Given the description of an element on the screen output the (x, y) to click on. 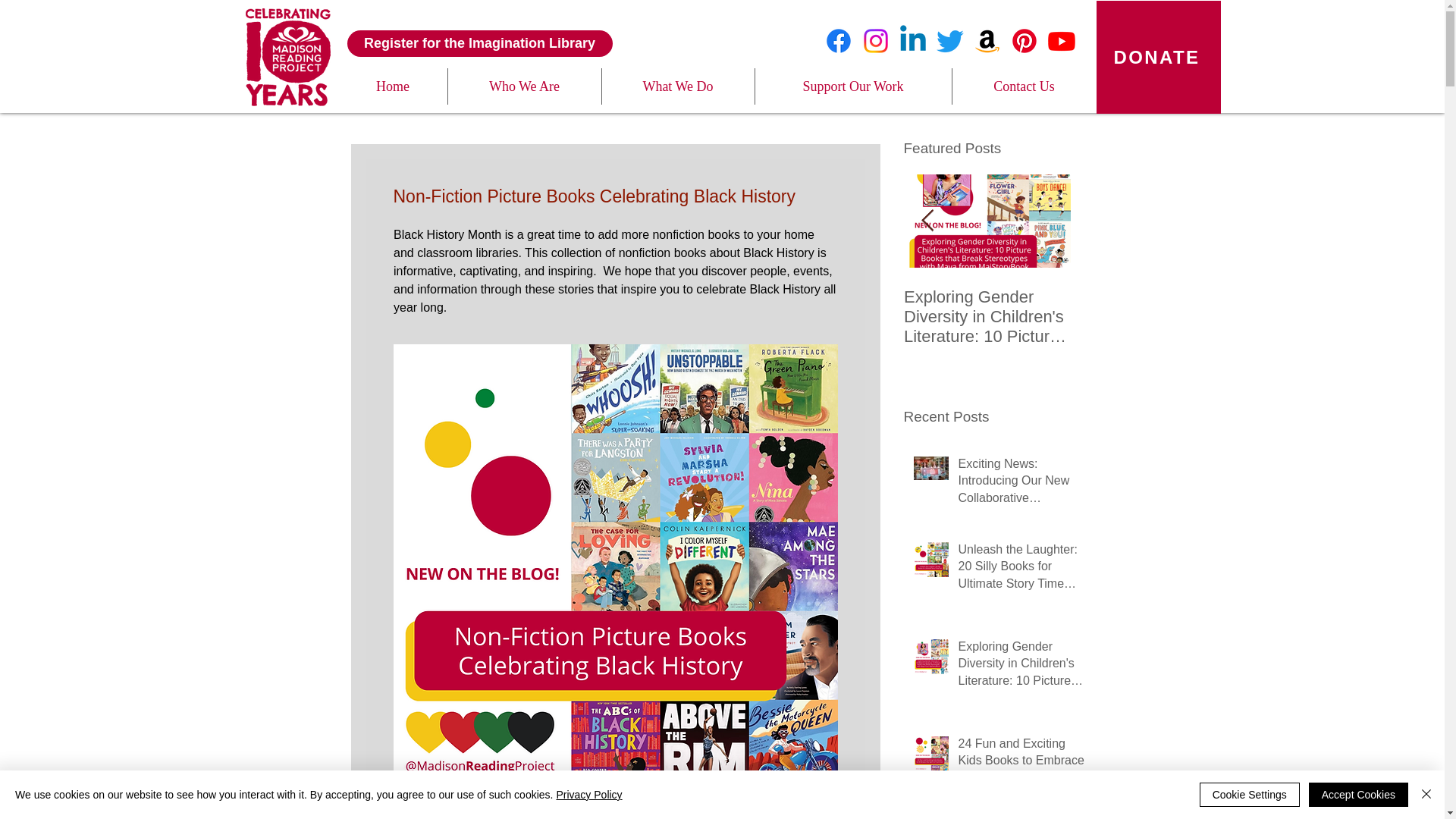
Register for the Imagination Library (479, 43)
What We Do (678, 85)
Support Our Work (853, 85)
Who We Are (522, 85)
Home (391, 85)
